Given the description of an element on the screen output the (x, y) to click on. 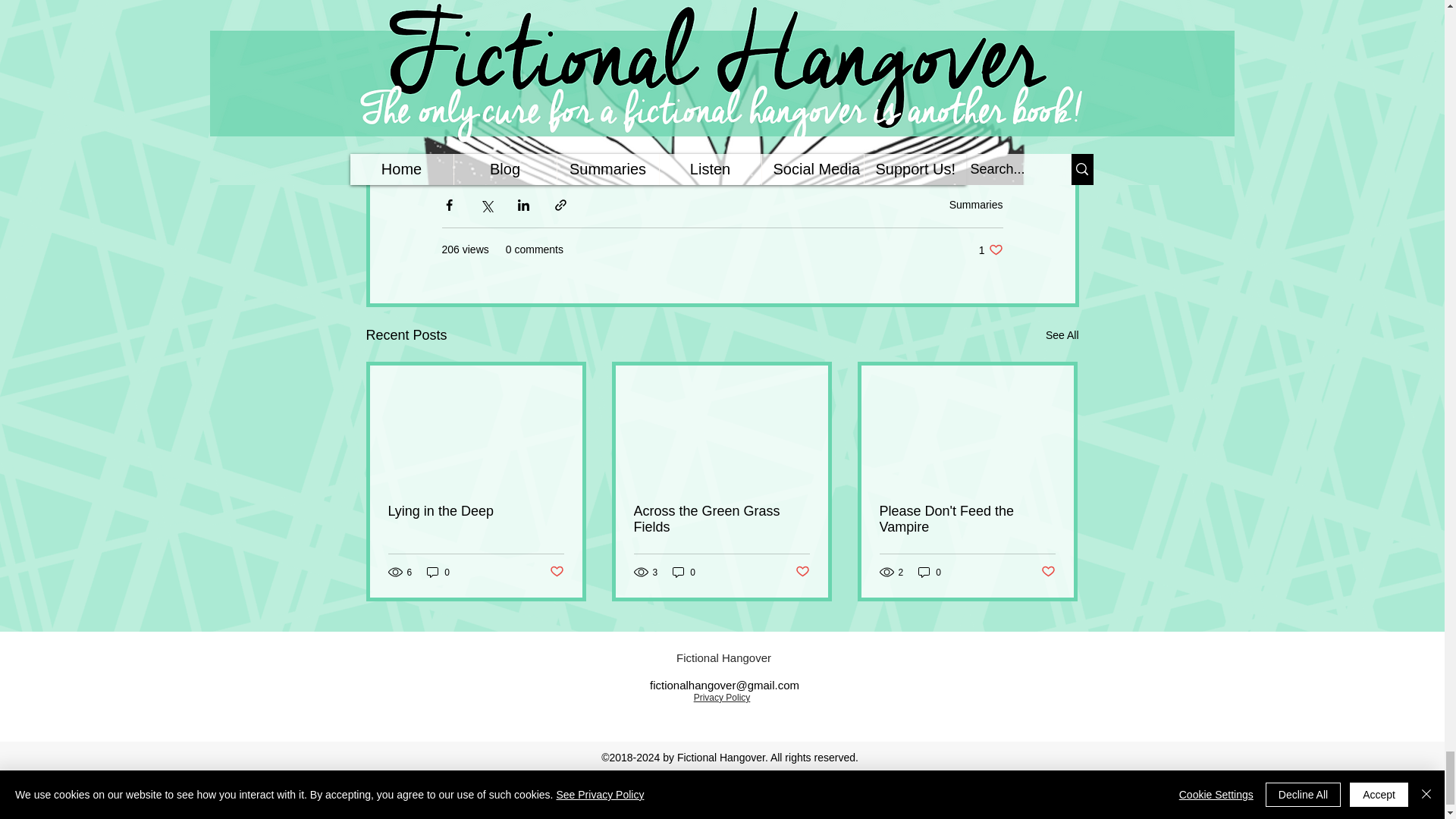
See All (1061, 335)
0 (438, 572)
Lying in the Deep (990, 249)
Post not marked as liked (476, 511)
Summaries (555, 571)
